Given the description of an element on the screen output the (x, y) to click on. 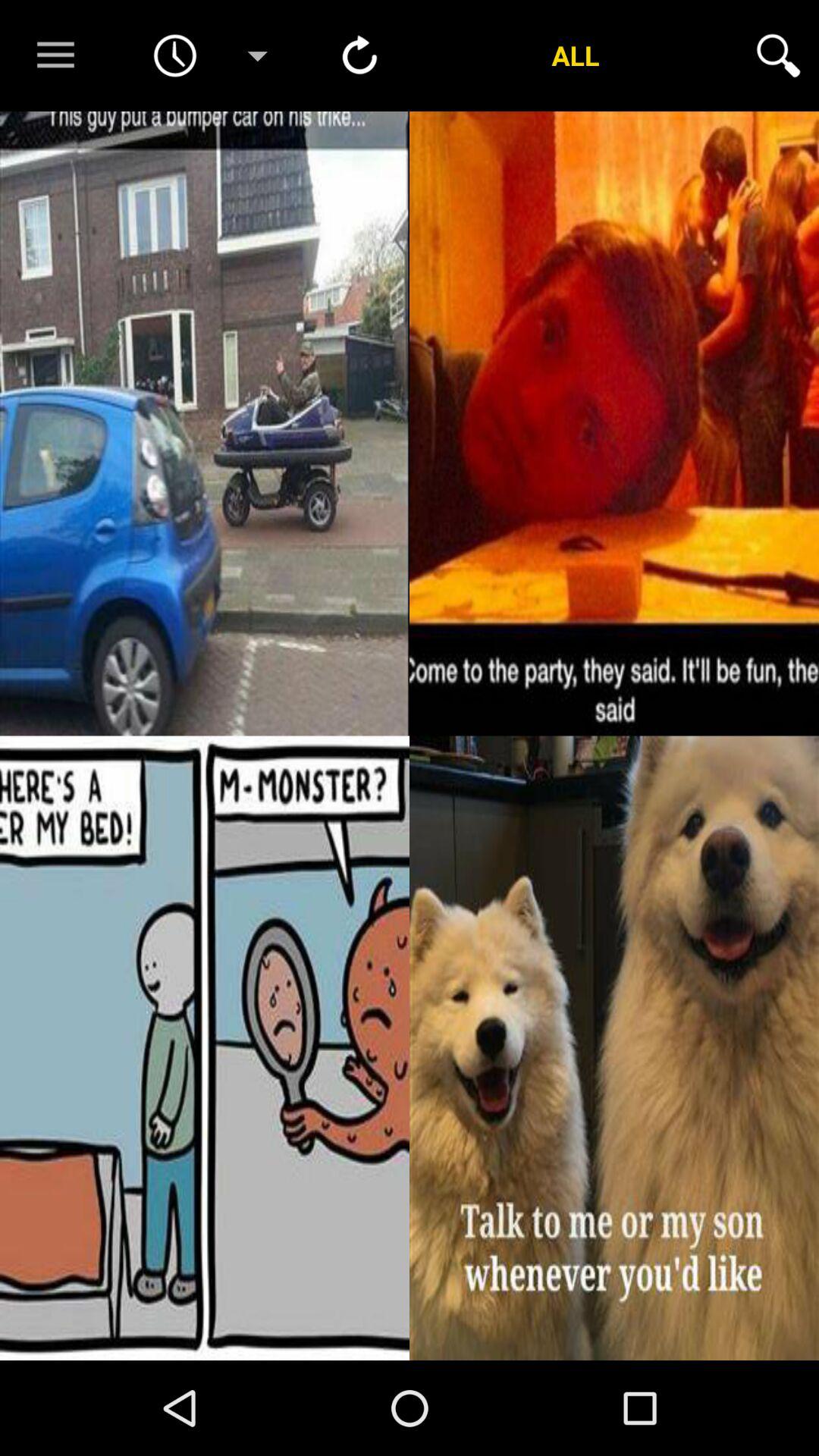
refresh option (359, 55)
